Given the description of an element on the screen output the (x, y) to click on. 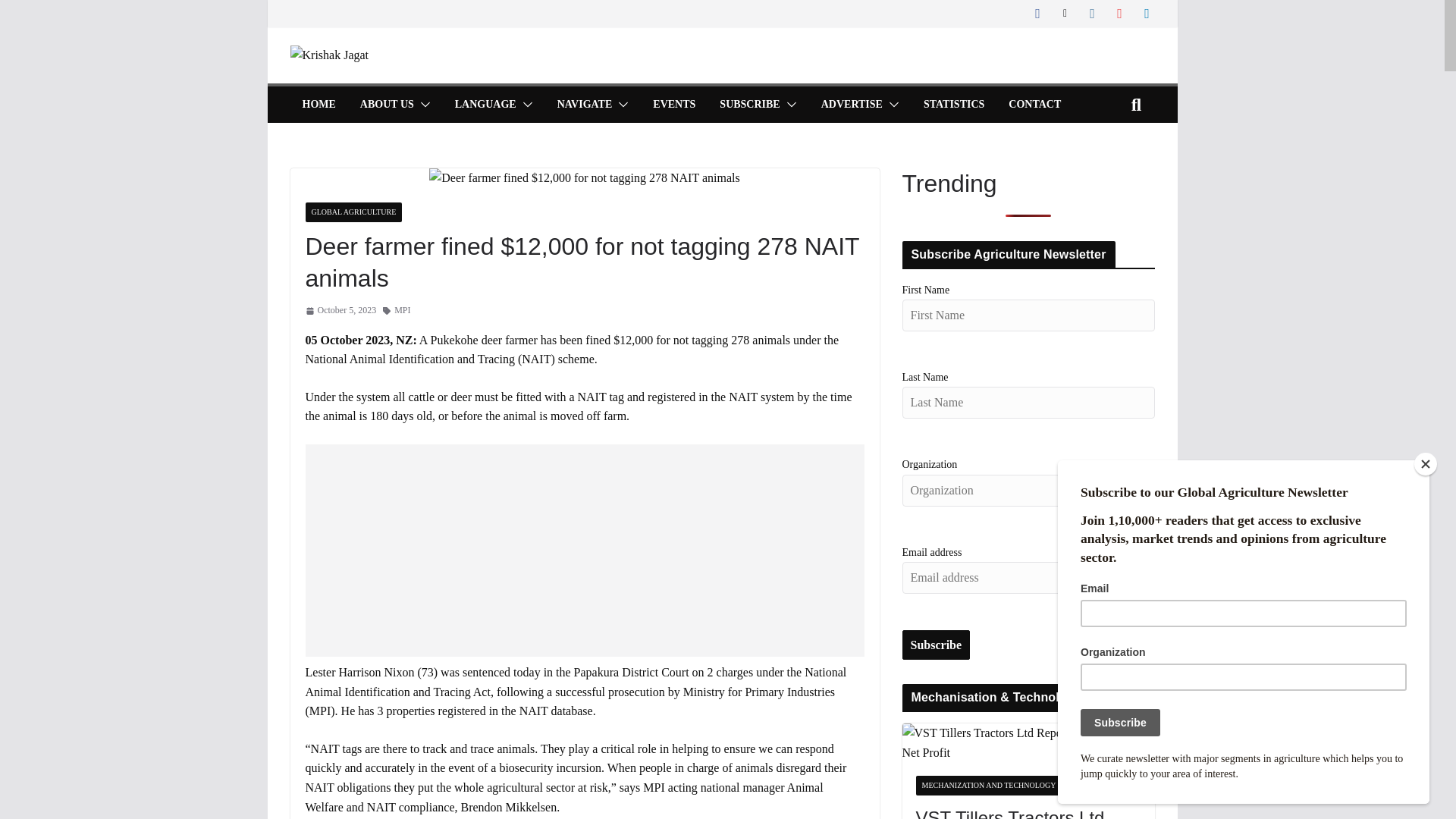
HOME (317, 104)
ABOUT US (386, 104)
EVENTS (673, 104)
LANGUAGE (485, 104)
SUBSCRIBE (748, 104)
NAVIGATE (584, 104)
Advertisement (583, 550)
4:59 pm (339, 310)
Subscribe (936, 644)
ADVERTISE (851, 104)
